Given the description of an element on the screen output the (x, y) to click on. 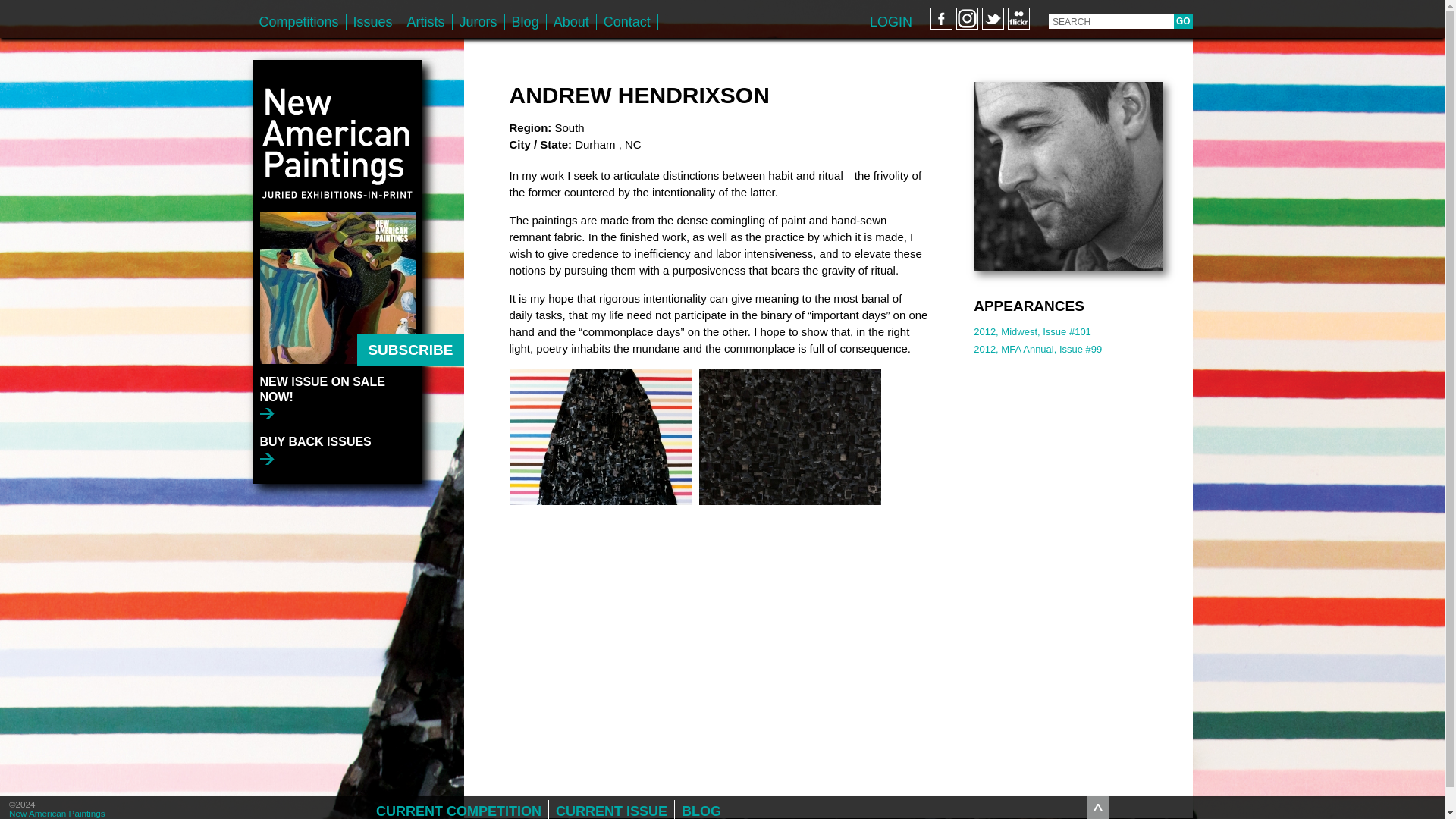
Enter the terms you wish to search for. (1110, 20)
Artists (425, 21)
Contact (627, 21)
New American Paintings (56, 813)
BUY BACK ISSUES (315, 449)
Contact (627, 21)
New issue on sale now! (340, 396)
Blog (525, 21)
CURRENT ISSUE (611, 809)
About (571, 21)
Go (1182, 20)
New American Paintings (336, 135)
Issues (372, 21)
Jurors (477, 21)
NEW ISSUE ON SALE NOW! (340, 396)
